Given the description of an element on the screen output the (x, y) to click on. 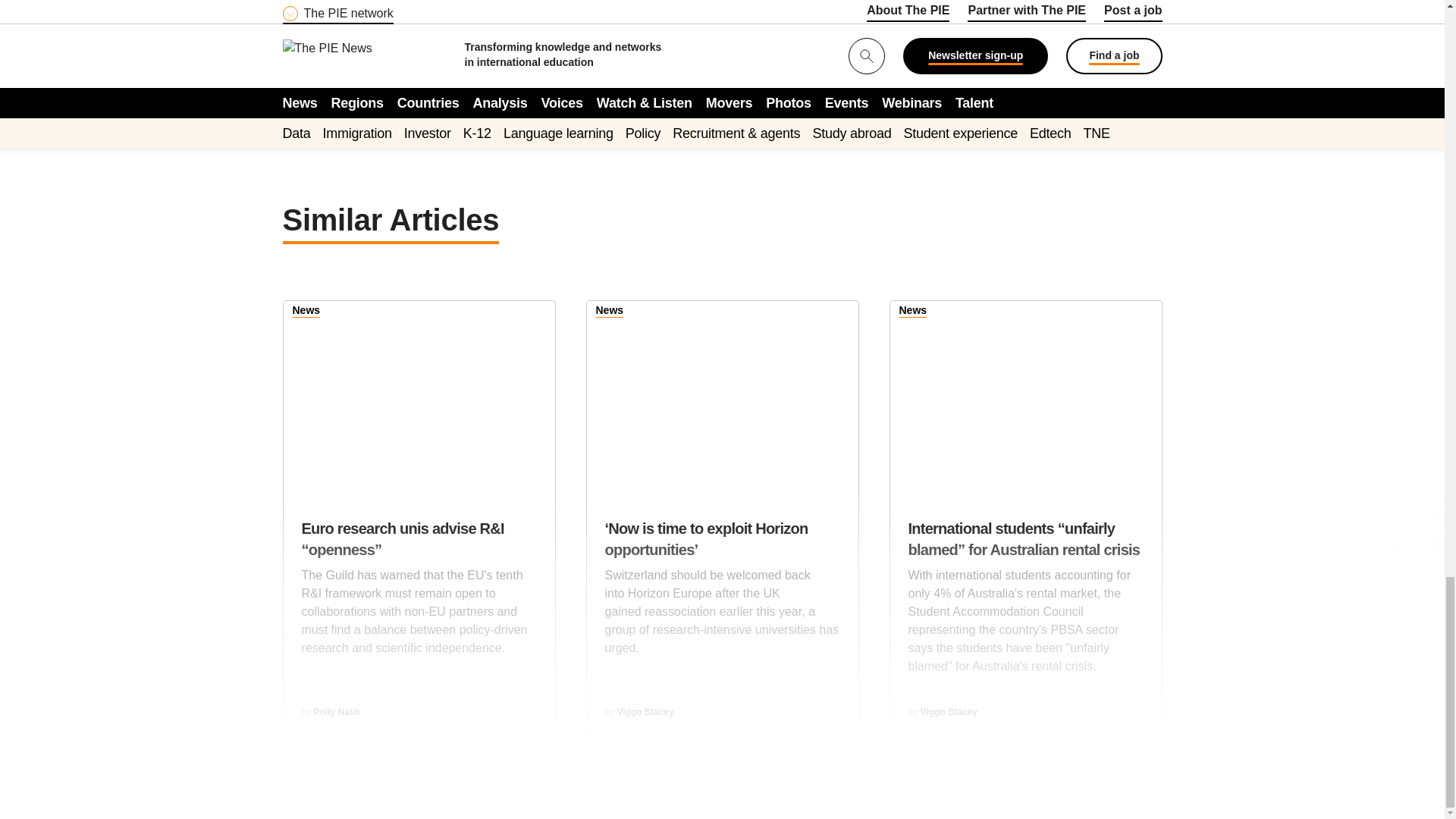
View all News articles (306, 312)
View all News articles (912, 312)
View all News articles (609, 312)
